Given the description of an element on the screen output the (x, y) to click on. 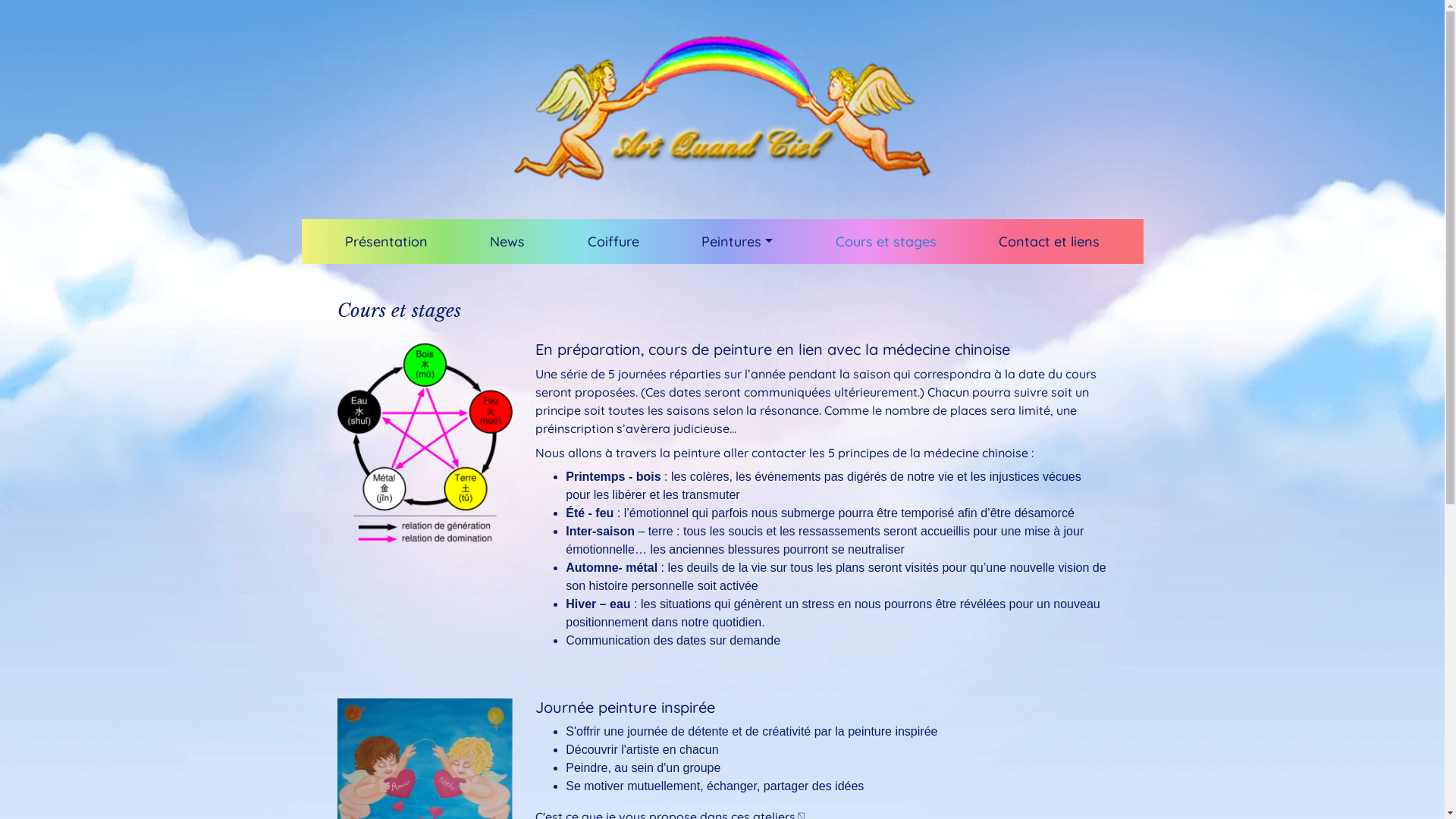
Cours et stages Element type: text (885, 241)
Peintures Element type: text (736, 241)
Coiffure Element type: text (613, 241)
Contact et liens Element type: text (1048, 241)
News Element type: text (506, 241)
